Given the description of an element on the screen output the (x, y) to click on. 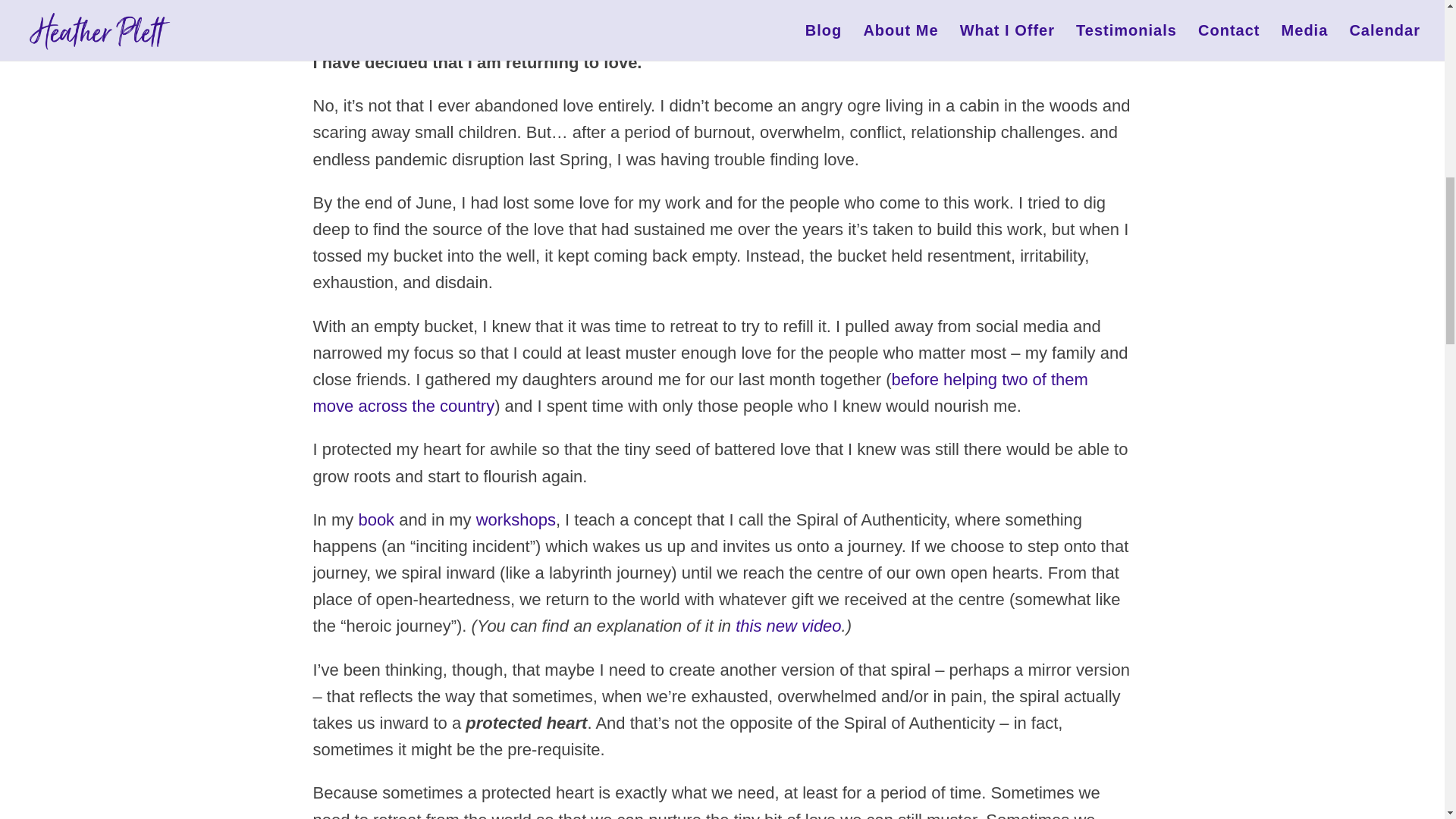
before helping two of them move across the country (700, 392)
book (376, 519)
this new video (788, 625)
workshops (516, 519)
